Given the description of an element on the screen output the (x, y) to click on. 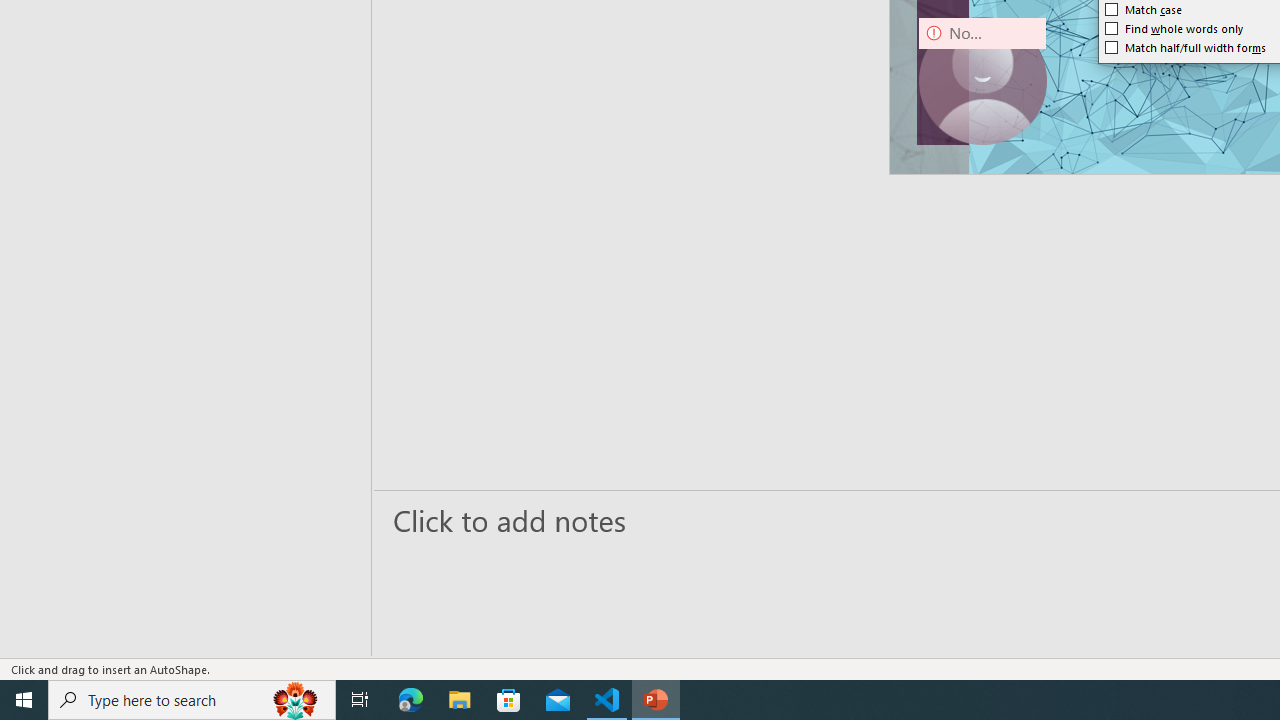
Find whole words only (1174, 28)
Match case (1144, 10)
Microsoft Edge (411, 699)
Camera 9, No camera detected. (982, 80)
Match half/full width forms (1186, 48)
